Given the description of an element on the screen output the (x, y) to click on. 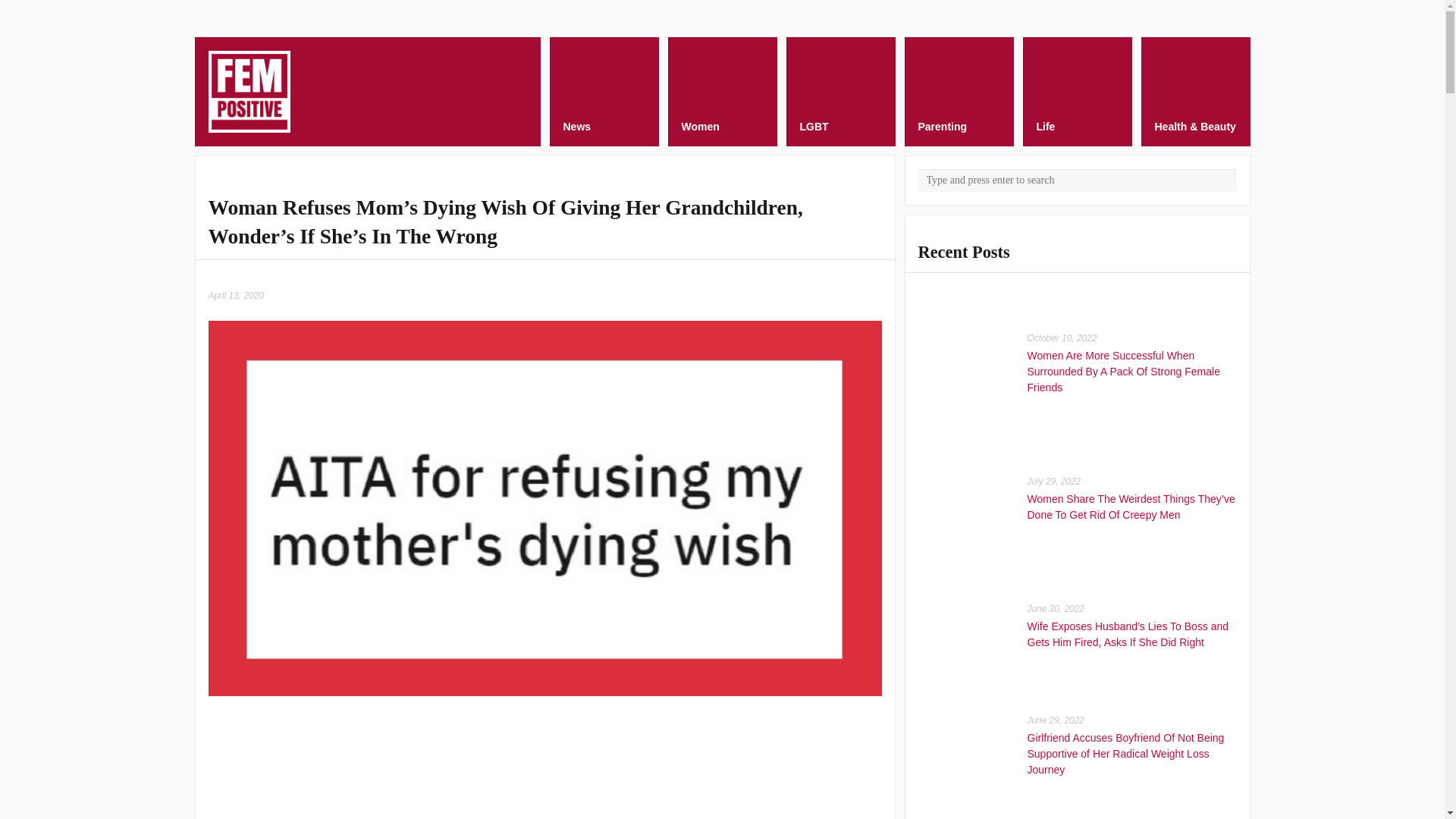
Life (1076, 91)
News (603, 91)
LGBT (840, 91)
Parenting (958, 91)
Women (721, 91)
